Given the description of an element on the screen output the (x, y) to click on. 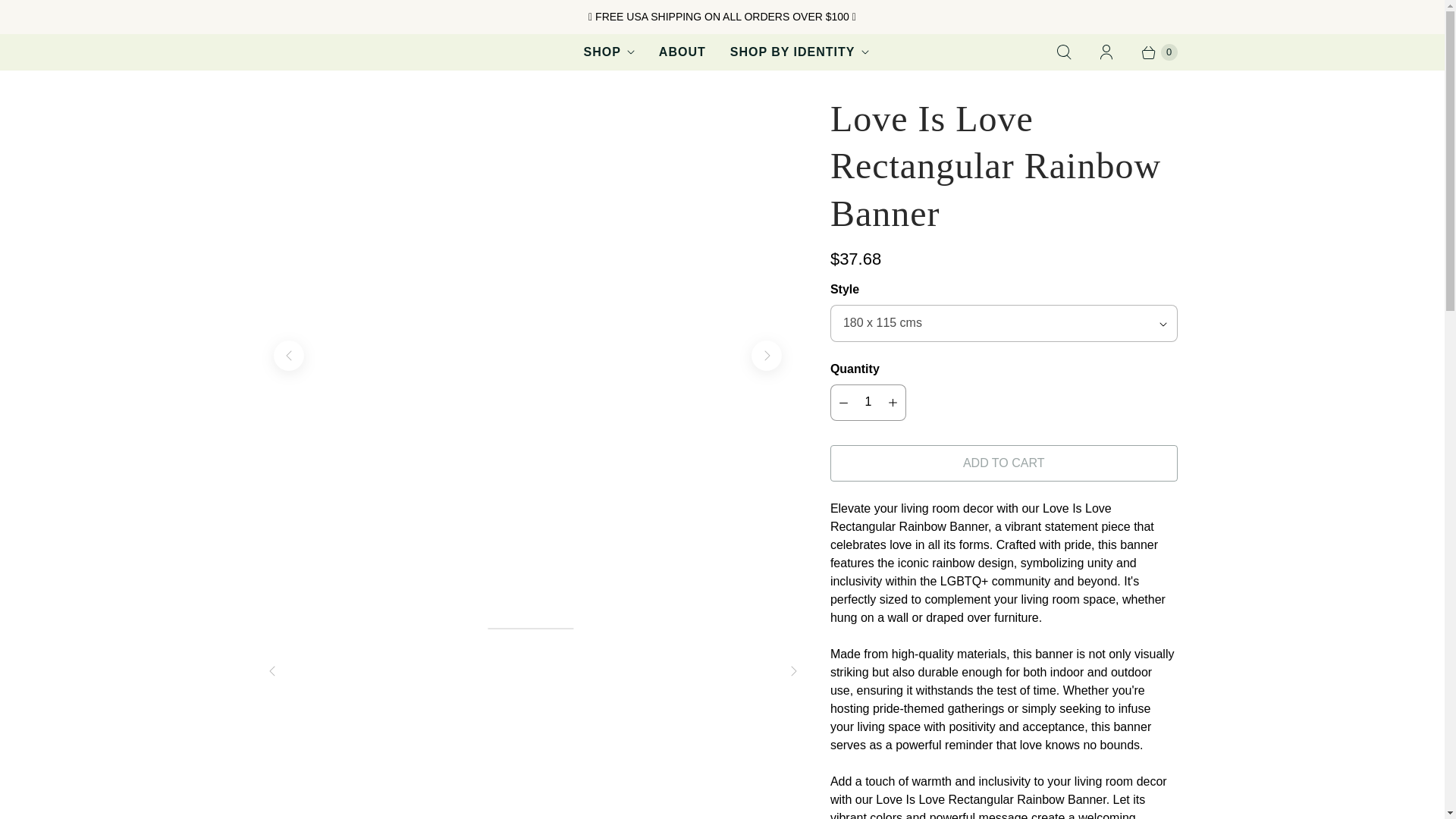
Love Is Love Rectangular Rainbow Banner (526, 104)
ABOUT (681, 52)
Love Is Love Rectangular Rainbow Banner (133, 104)
